Given the description of an element on the screen output the (x, y) to click on. 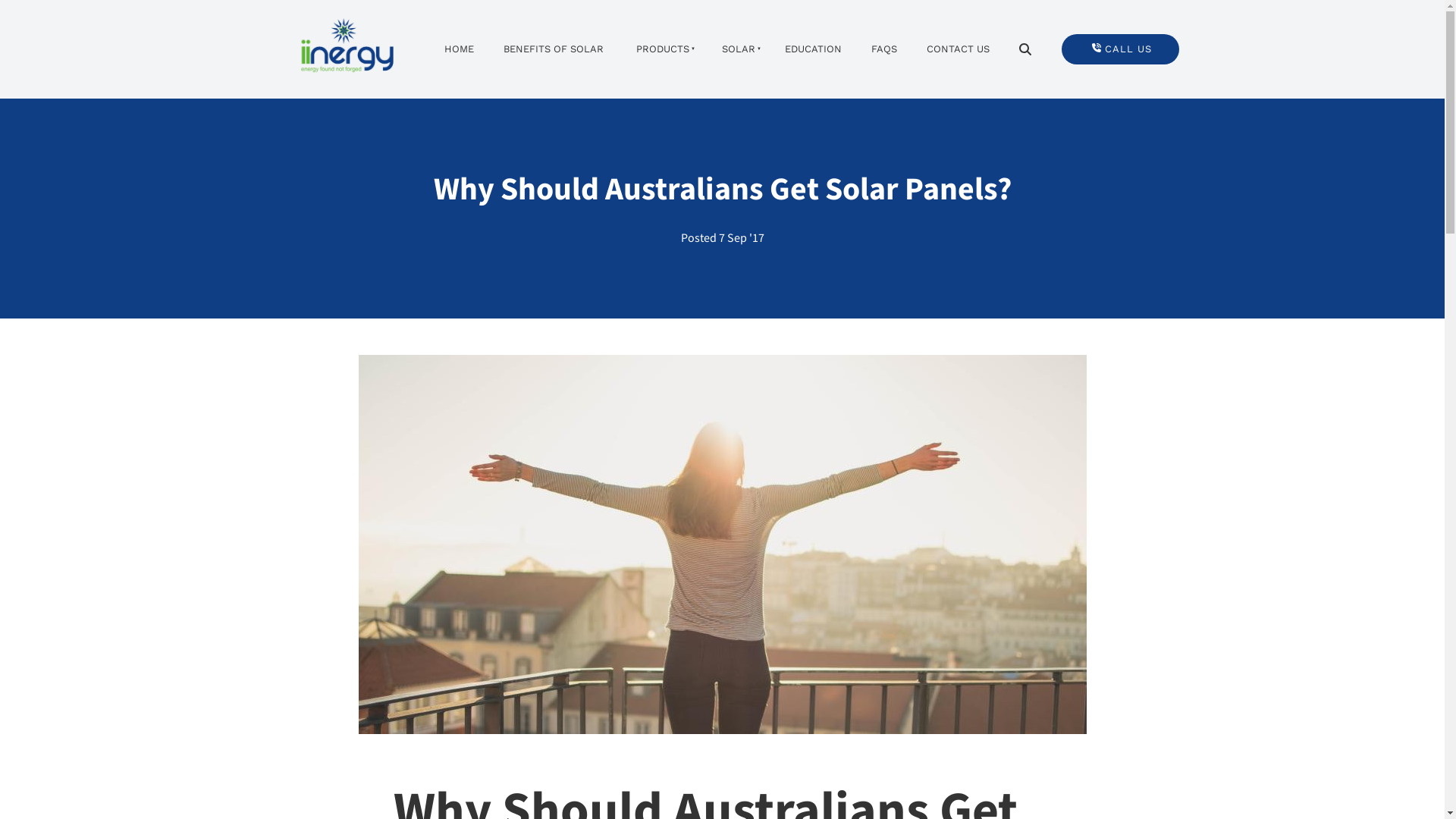
EDUCATION Element type: text (813, 49)
PRODUCTS Element type: text (661, 49)
CONTACT US Element type: text (958, 49)
CALL US Element type: text (1120, 49)
BENEFITS OF SOLAR Element type: text (553, 49)
FAQS Element type: text (884, 49)
HOME Element type: text (459, 49)
SOLAR Element type: text (737, 49)
